Given the description of an element on the screen output the (x, y) to click on. 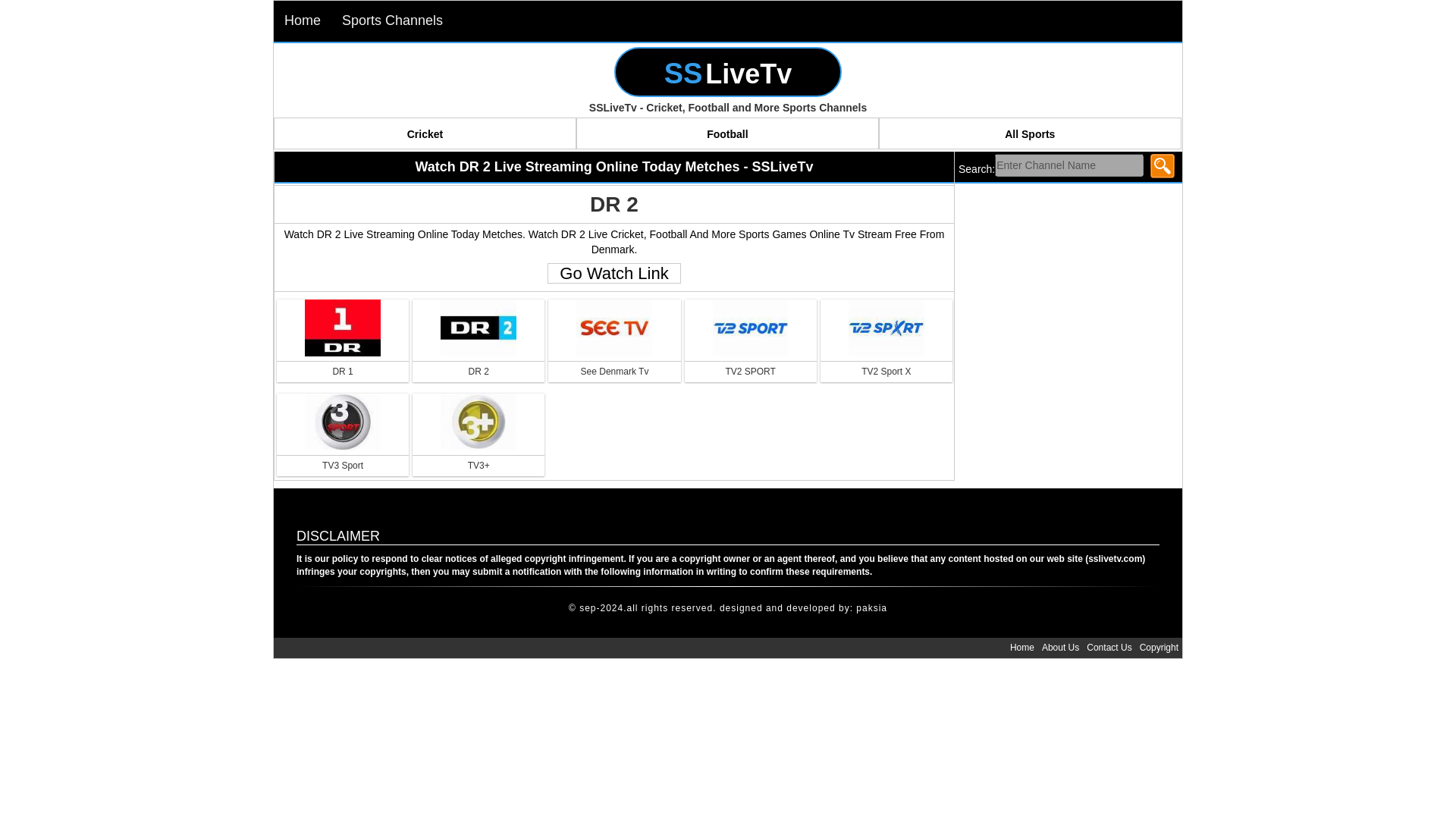
Sports Channels (391, 20)
See Denmark Tv (613, 364)
All Sports (1029, 133)
TV2 Sport X (886, 364)
Home (1022, 648)
DR 2 (478, 364)
TV3 Sport (342, 457)
Copyright (1158, 648)
Home (302, 20)
DR 1 (342, 364)
